Given the description of an element on the screen output the (x, y) to click on. 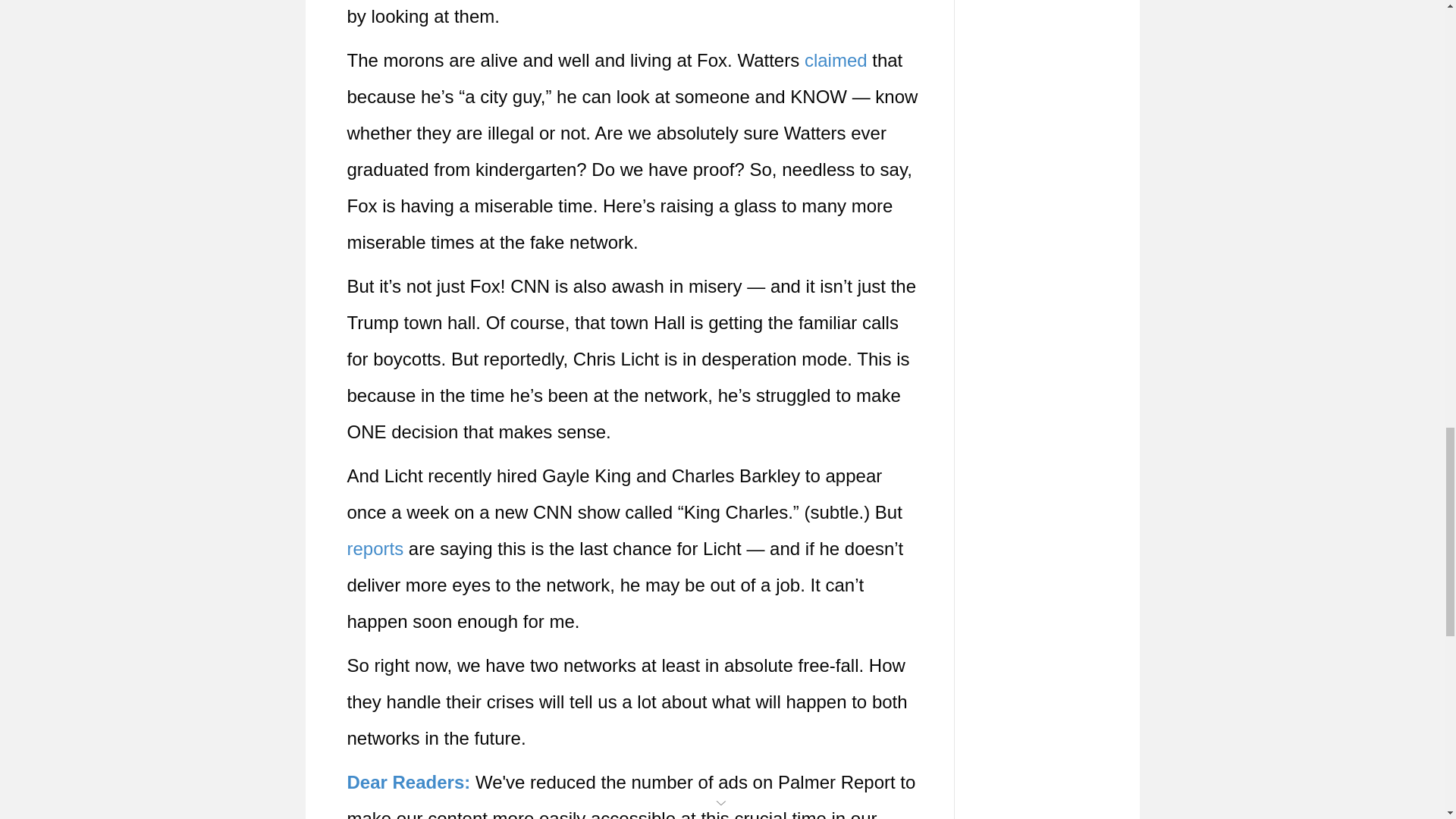
claimed (836, 59)
reports (375, 548)
Dear Readers: (408, 782)
